Given the description of an element on the screen output the (x, y) to click on. 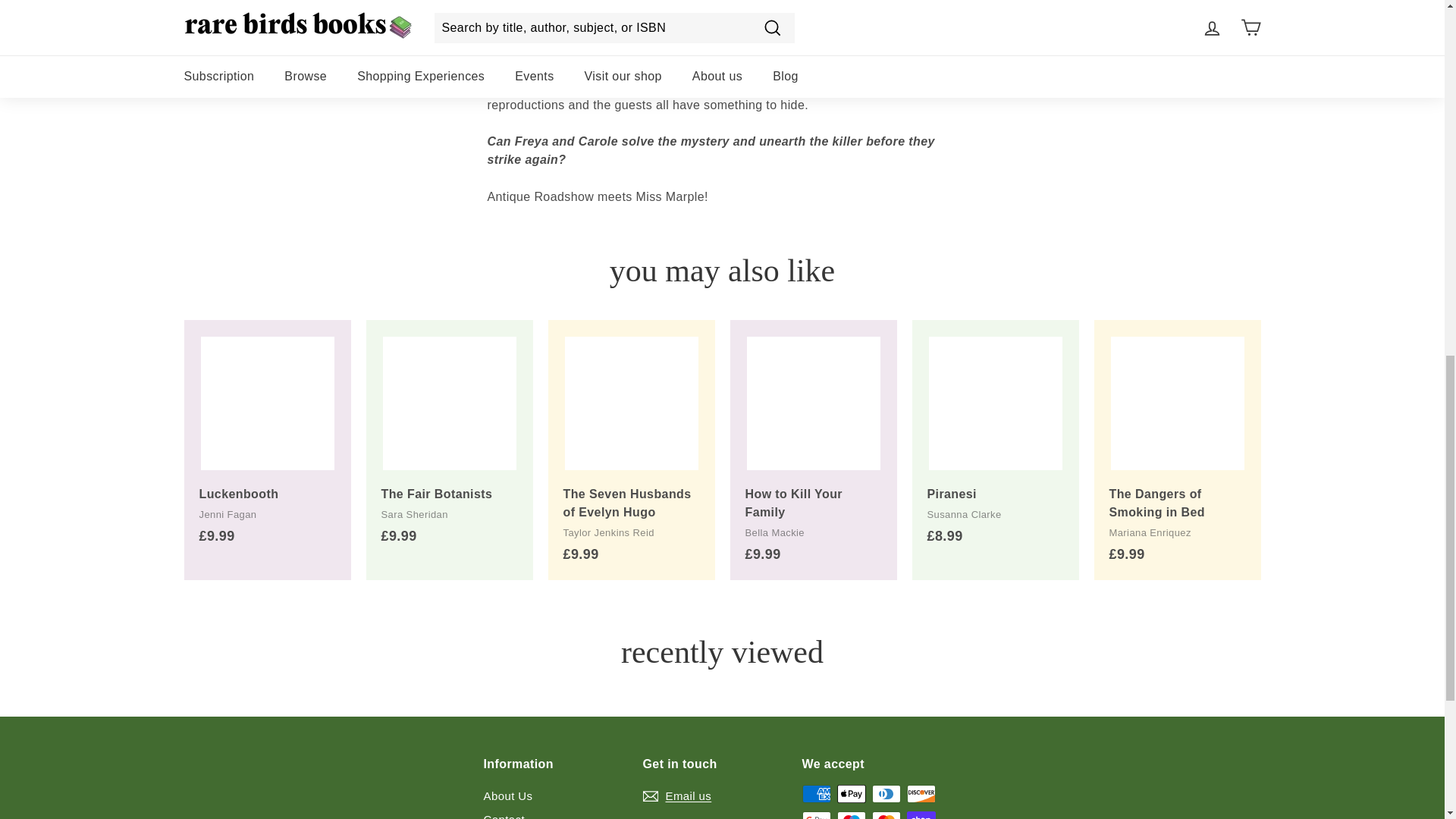
Diners Club (886, 793)
Apple Pay (851, 793)
Shop Pay (921, 815)
Maestro (851, 815)
Discover (921, 793)
American Express (816, 793)
Google Pay (816, 815)
Mastercard (886, 815)
